Given the description of an element on the screen output the (x, y) to click on. 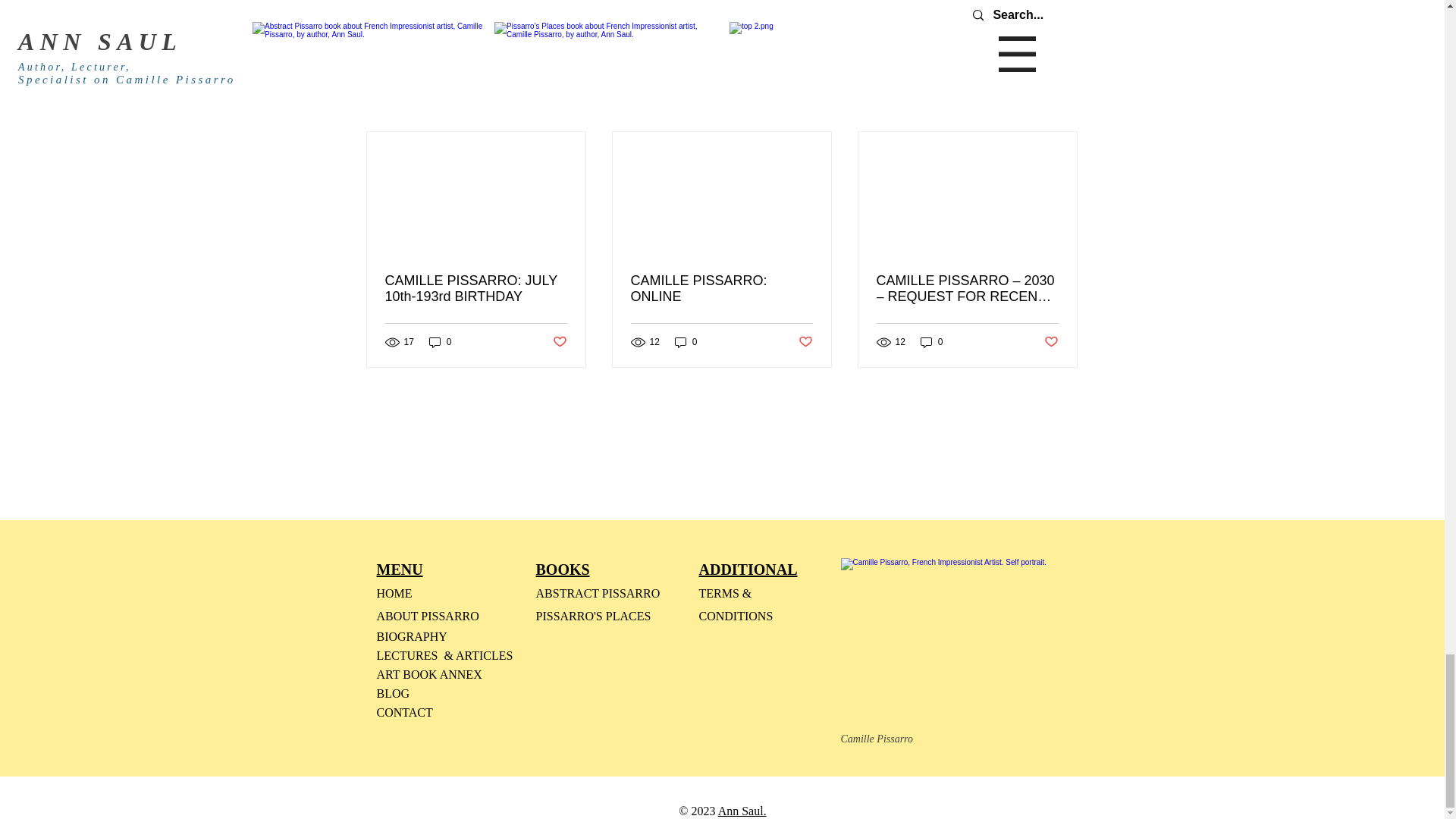
CAMILLE PISSARRO: ONLINE (721, 288)
Post not marked as liked (1050, 342)
ABOUT PISSARRO (427, 615)
Post not marked as liked (558, 342)
BIOGRAPHY (410, 637)
0 (685, 341)
Post not marked as liked (804, 342)
See All (1061, 105)
CAMILLE PISSARRO: JULY 10th-193rd BIRTHDAY (476, 288)
0 (440, 341)
